Given the description of an element on the screen output the (x, y) to click on. 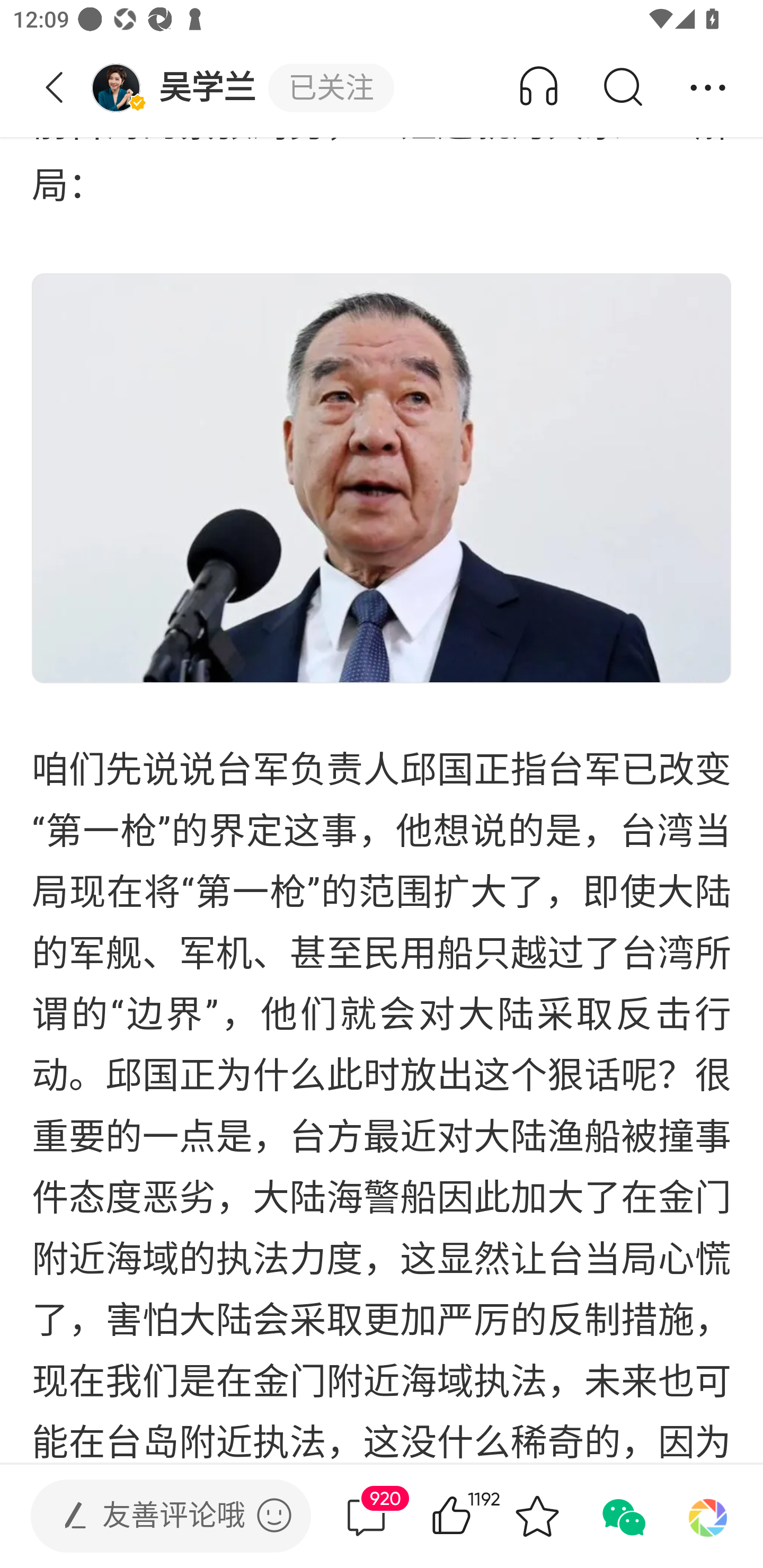
吴学兰 (179, 87)
搜索  (622, 87)
分享  (707, 87)
 返回 (54, 87)
已关注 (330, 88)
新闻图片 (381, 477)
发表评论  友善评论哦 发表评论  (155, 1516)
920评论  920 评论 (365, 1516)
1192赞 (476, 1516)
收藏  (536, 1516)
分享到微信  (622, 1516)
分享到朋友圈 (707, 1516)
 (274, 1515)
